Given the description of an element on the screen output the (x, y) to click on. 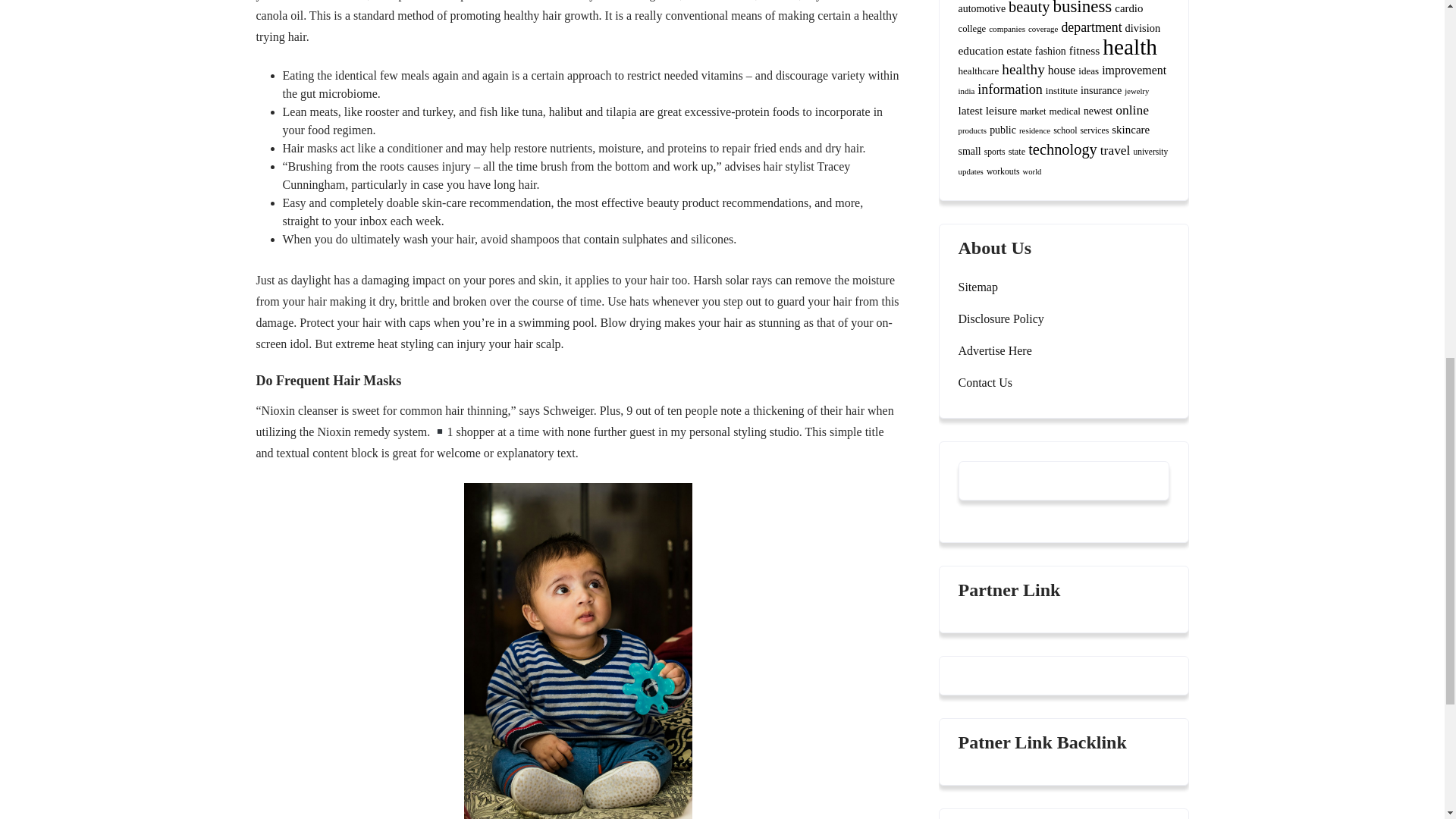
information (1009, 89)
coverage (1042, 28)
automotive (982, 8)
fashion (1050, 50)
ideas (1088, 70)
improvement (1134, 69)
fitness (1084, 50)
healthcare (978, 70)
cardio (1128, 8)
companies (1006, 28)
college (972, 28)
division (1142, 28)
beauty (1029, 7)
health (1129, 46)
healthy (1022, 68)
